Given the description of an element on the screen output the (x, y) to click on. 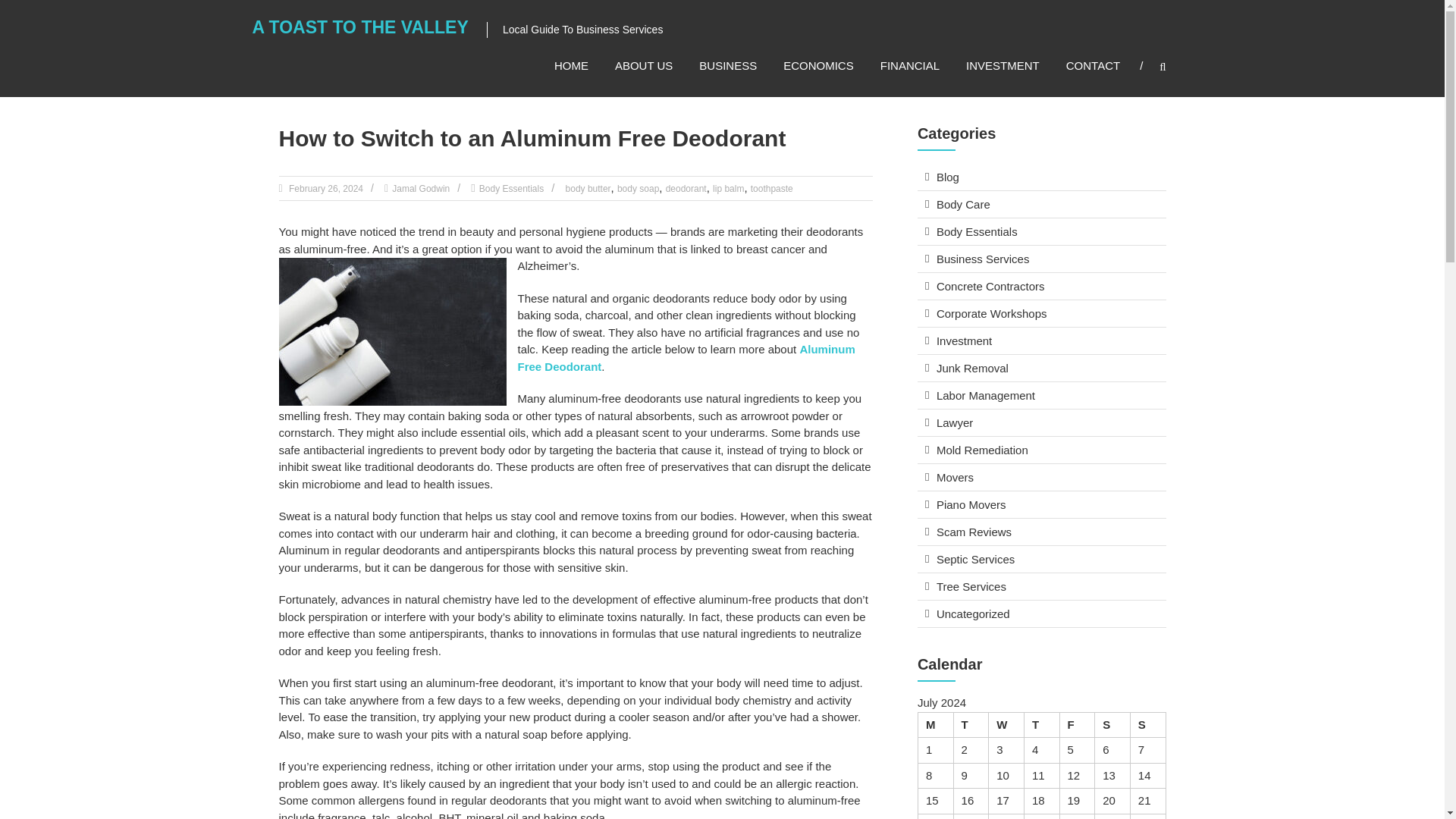
Business Services (982, 258)
Sunday (1147, 724)
Mold Remediation (981, 449)
deodorant (685, 188)
Concrete Contractors (990, 286)
body butter (588, 188)
BUSINESS (727, 65)
12:03 pm (324, 188)
Movers (955, 477)
FINANCIAL (909, 65)
INVESTMENT (1002, 65)
Body Essentials (976, 231)
Scam Reviews (973, 531)
Corporate Workshops (991, 313)
Junk Removal (972, 367)
